Given the description of an element on the screen output the (x, y) to click on. 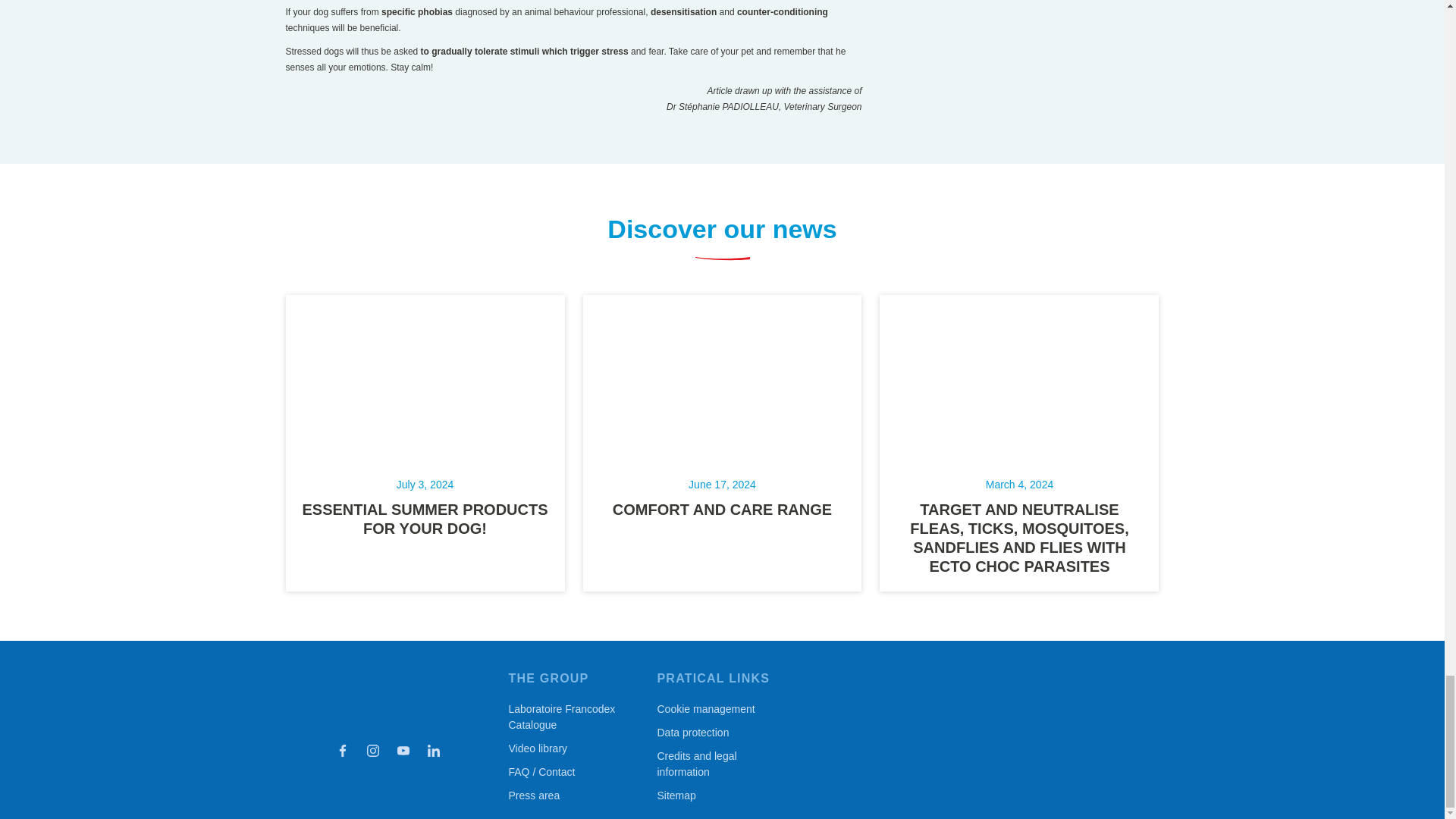
Facebook (341, 750)
LinkedIn (433, 750)
Instagram (372, 750)
YouTube (402, 750)
